Given the description of an element on the screen output the (x, y) to click on. 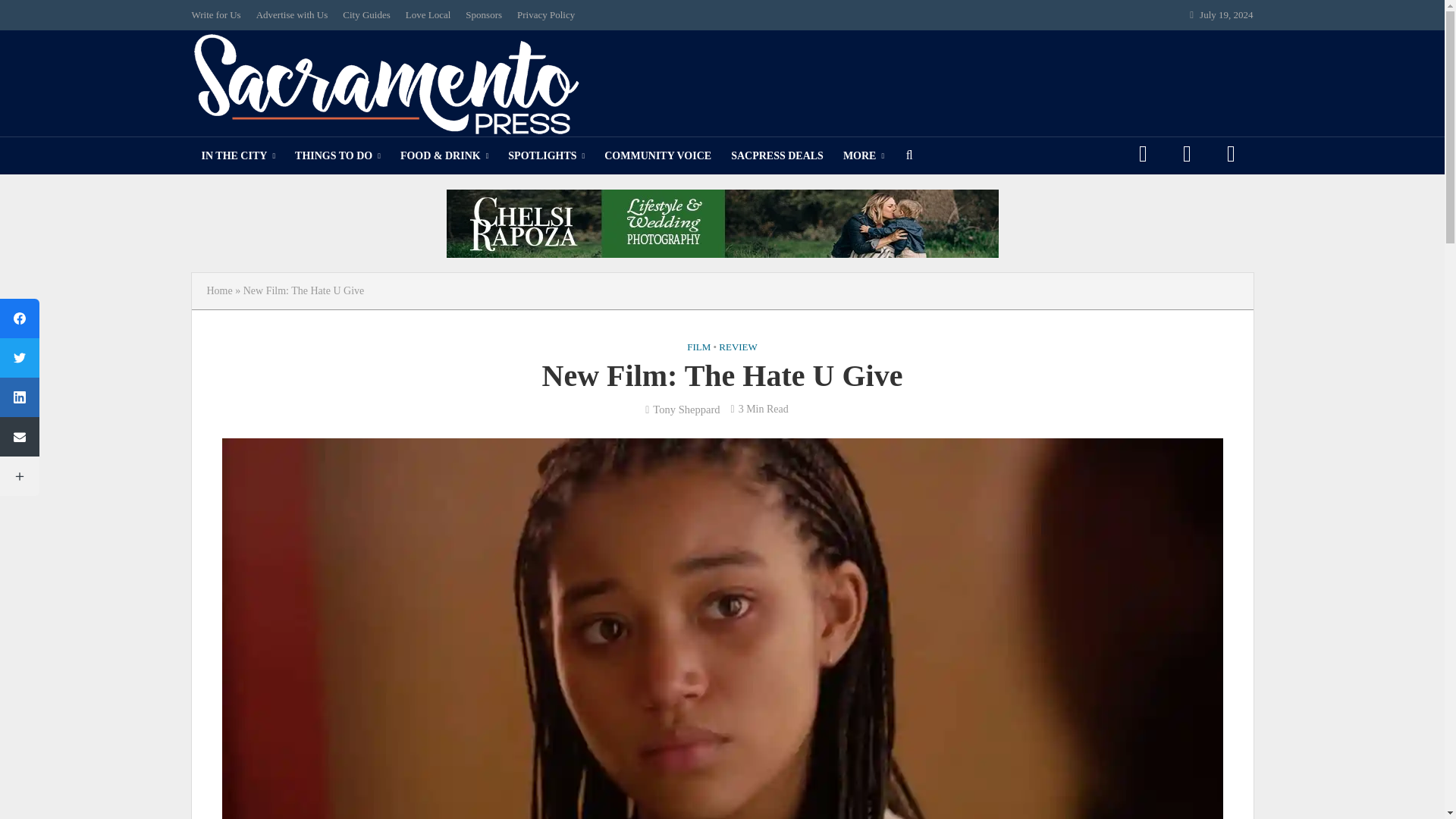
IN THE CITY (237, 156)
SPOTLIGHTS (545, 156)
Love Local (427, 15)
Advertise with Us (292, 15)
Privacy Policy (545, 15)
Write for Us (218, 15)
Sponsors (483, 15)
City Guides (365, 15)
MORE (862, 156)
COMMUNITY VOICE (657, 156)
SACPRESS DEALS (776, 156)
THINGS TO DO (337, 156)
